Given the description of an element on the screen output the (x, y) to click on. 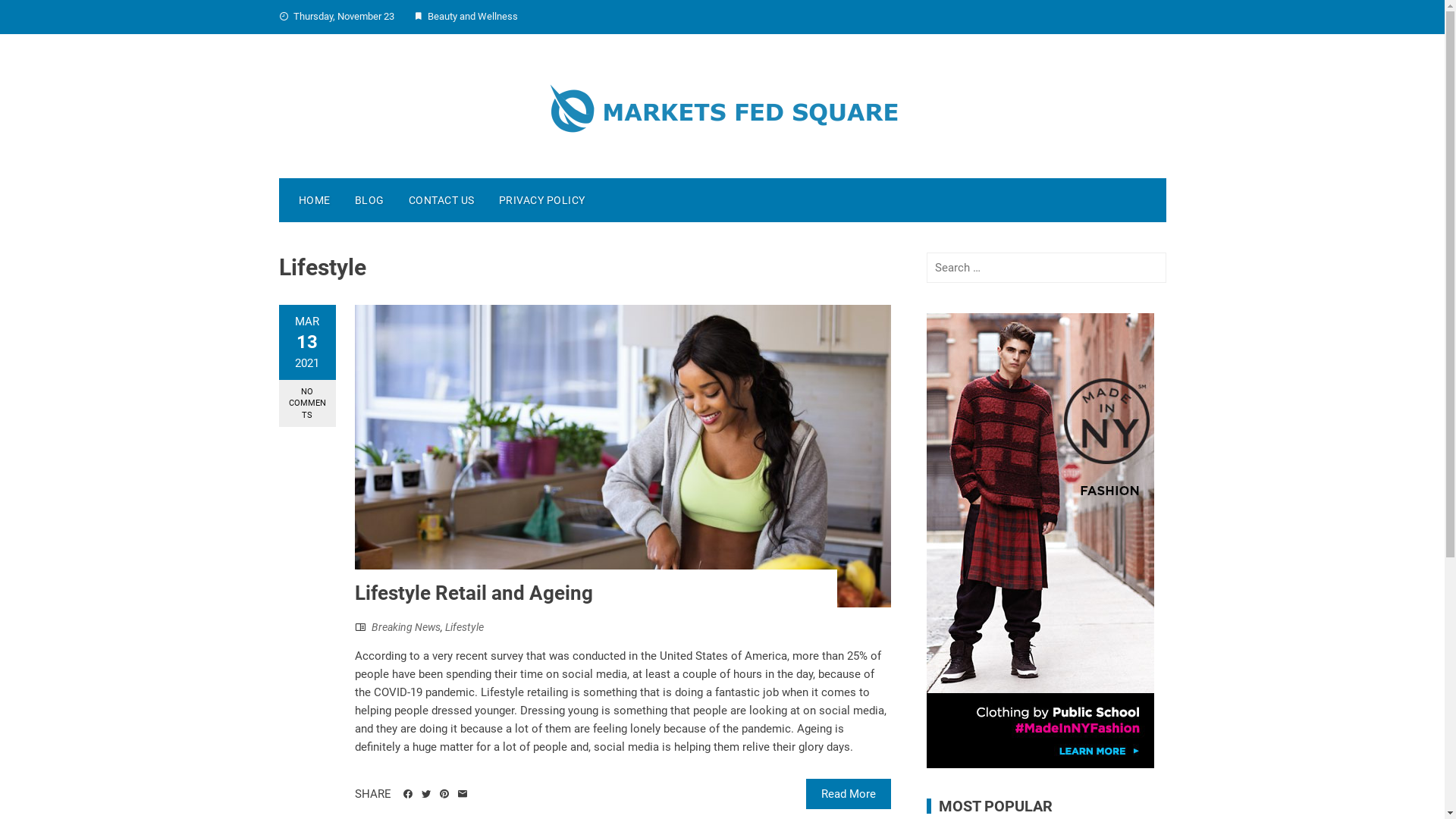
Share on Facebook Element type: hover (407, 793)
Share on Pinterest Element type: hover (444, 793)
Lifestyle Element type: text (463, 627)
Lifestyle Retail and Ageing Element type: text (473, 592)
Read More Element type: text (848, 793)
Email Element type: hover (462, 793)
PRIVACY POLICY Element type: text (541, 200)
NO COMMENTS Element type: text (307, 402)
BLOG Element type: text (369, 200)
Search Element type: text (32, 15)
Share on Twitter Element type: hover (426, 793)
CONTACT US Element type: text (440, 200)
Breaking News Element type: text (405, 627)
HOME Element type: text (314, 200)
